Given the description of an element on the screen output the (x, y) to click on. 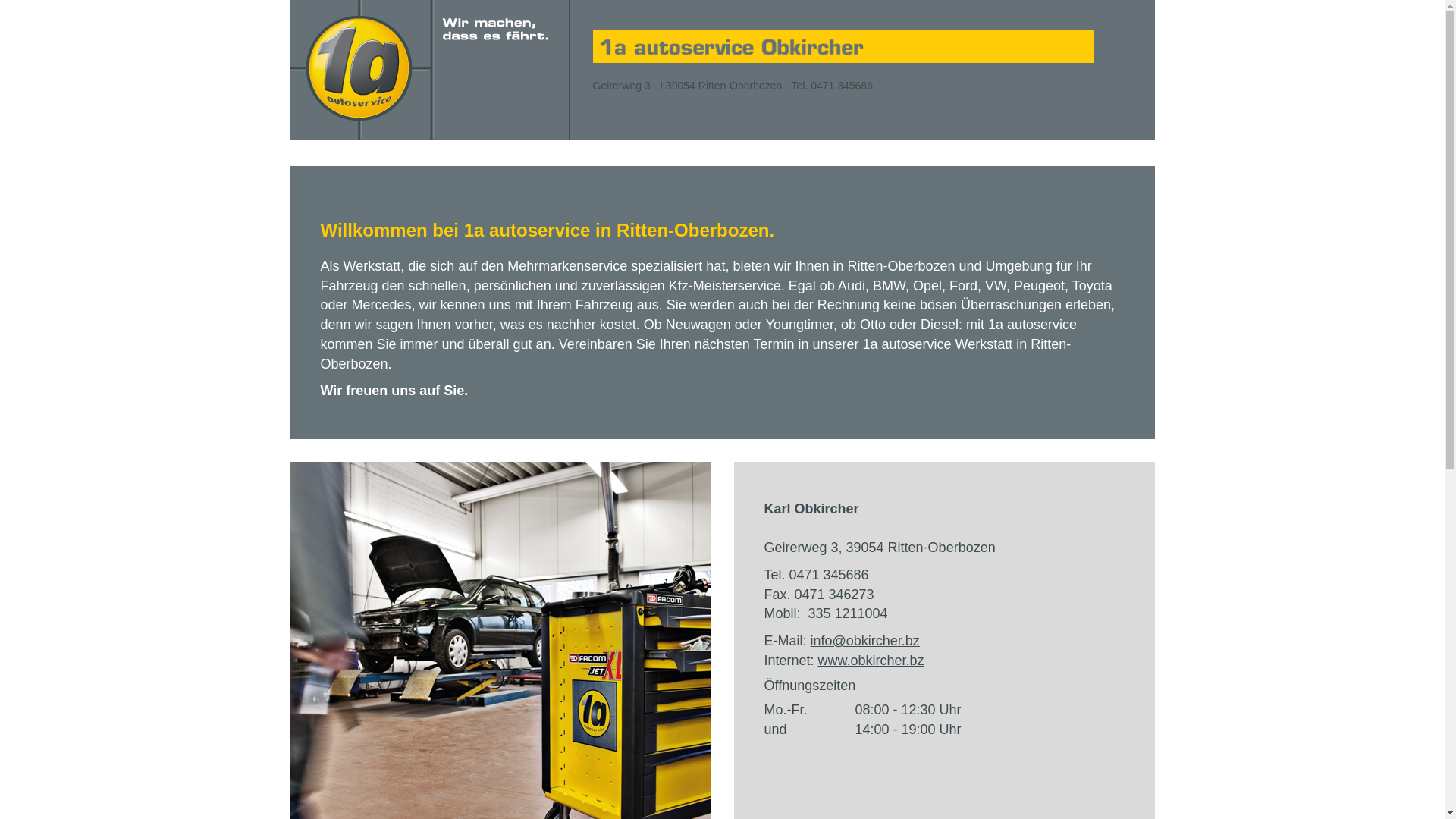
info@obkircher.bz Element type: text (864, 640)
www.obkircher.bz Element type: text (871, 660)
